Given the description of an element on the screen output the (x, y) to click on. 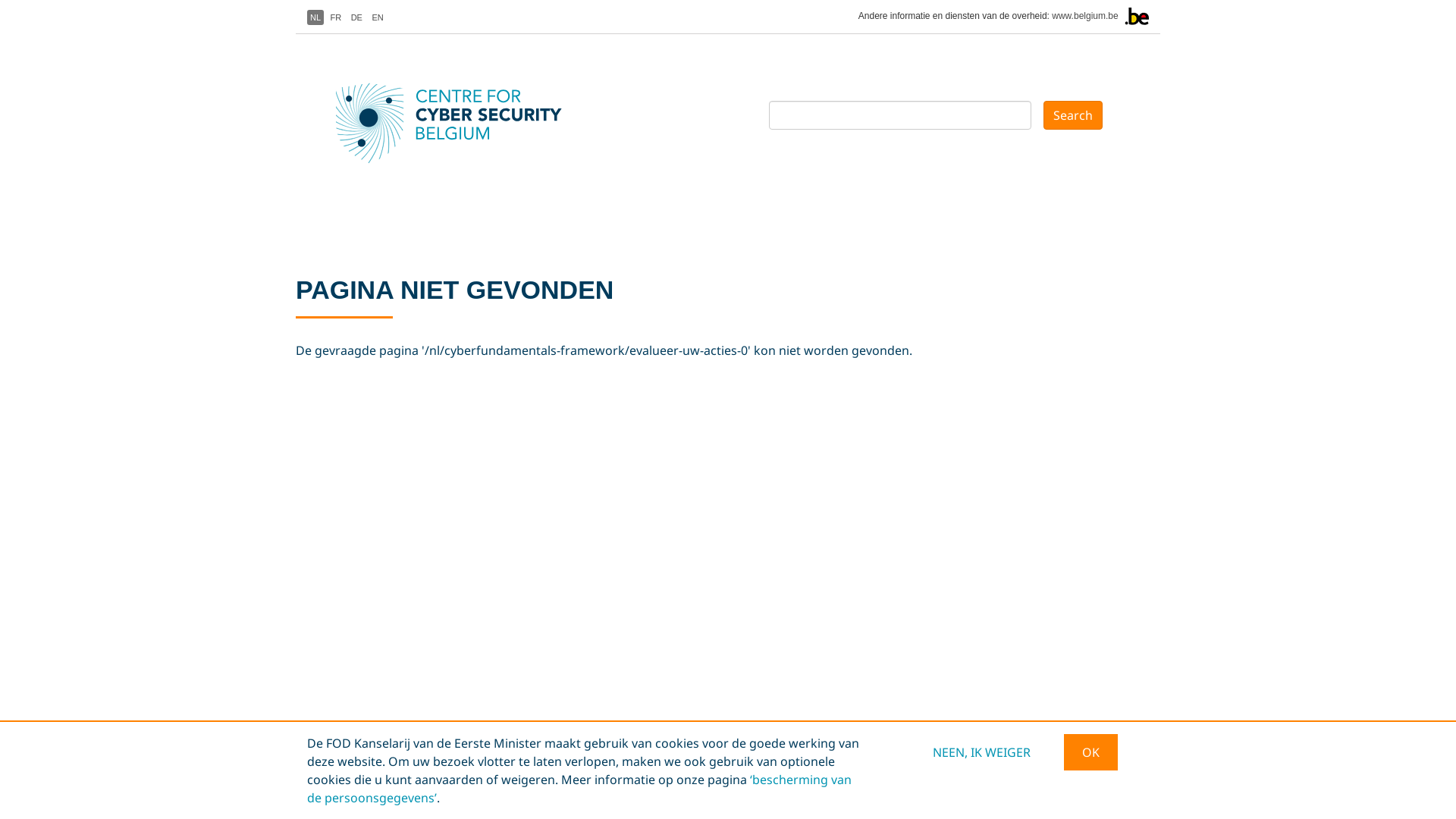
Home Element type: hover (431, 123)
CCB website Vulnerability Policy Element type: text (922, 804)
Persoonsgegevens Element type: text (719, 804)
Disclaimer Element type: text (804, 804)
www.belgium.be Element type: text (1084, 15)
EN Element type: text (376, 17)
FR Element type: text (336, 17)
NL Element type: text (315, 17)
Overslaan en naar de inhoud gaan Element type: text (0, 0)
OK Element type: text (1090, 752)
Search Element type: text (1072, 114)
DE Element type: text (356, 17)
RSS Element type: text (1022, 804)
NEEN, IK WEIGER Element type: text (981, 752)
